Given the description of an element on the screen output the (x, y) to click on. 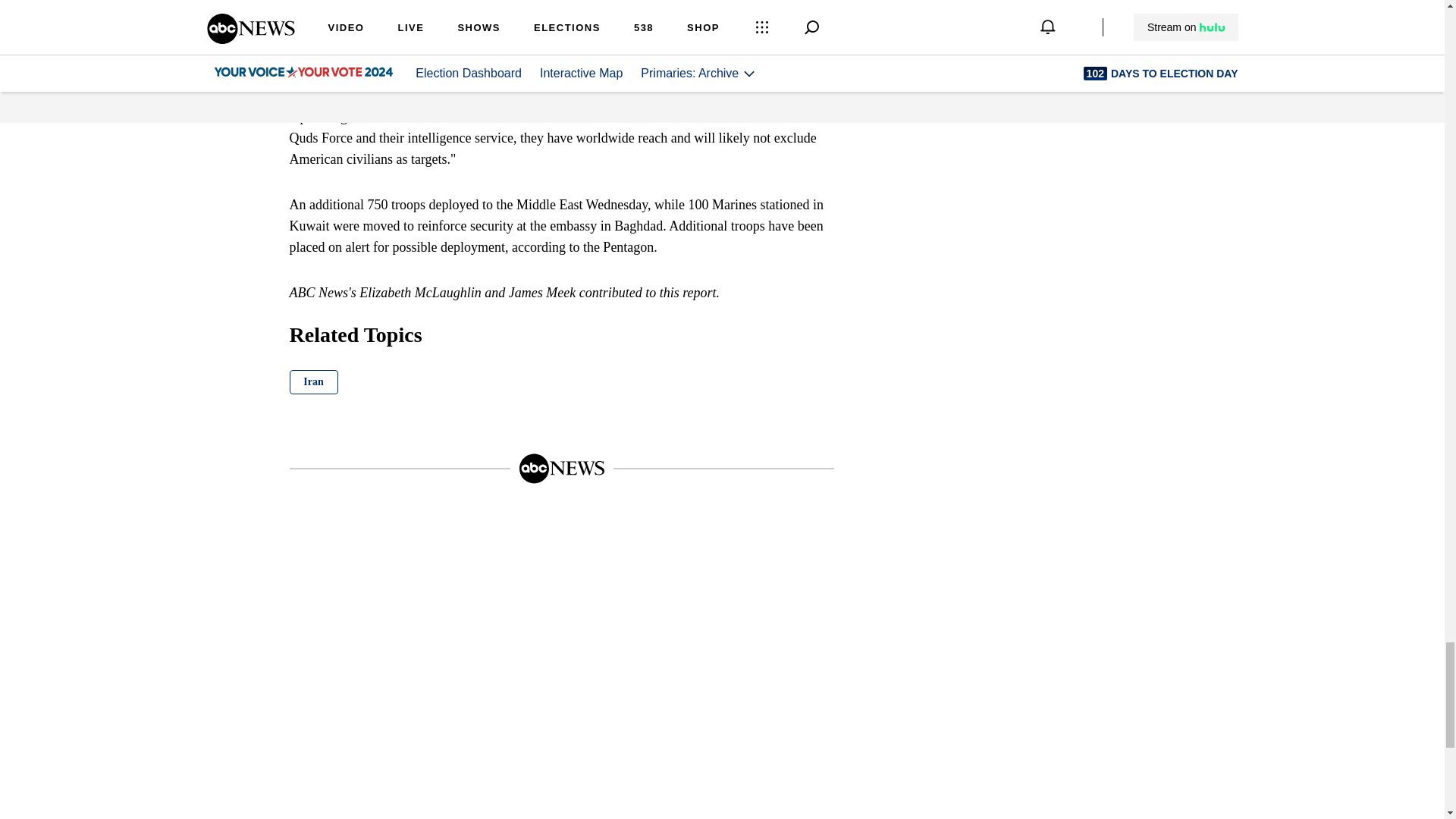
Iran (313, 381)
